Given the description of an element on the screen output the (x, y) to click on. 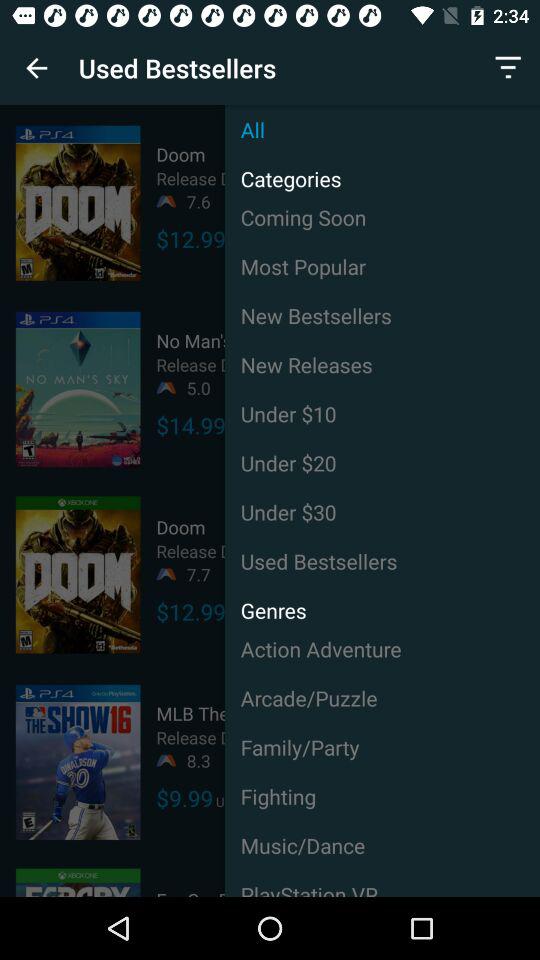
open fighting icon (382, 796)
